Given the description of an element on the screen output the (x, y) to click on. 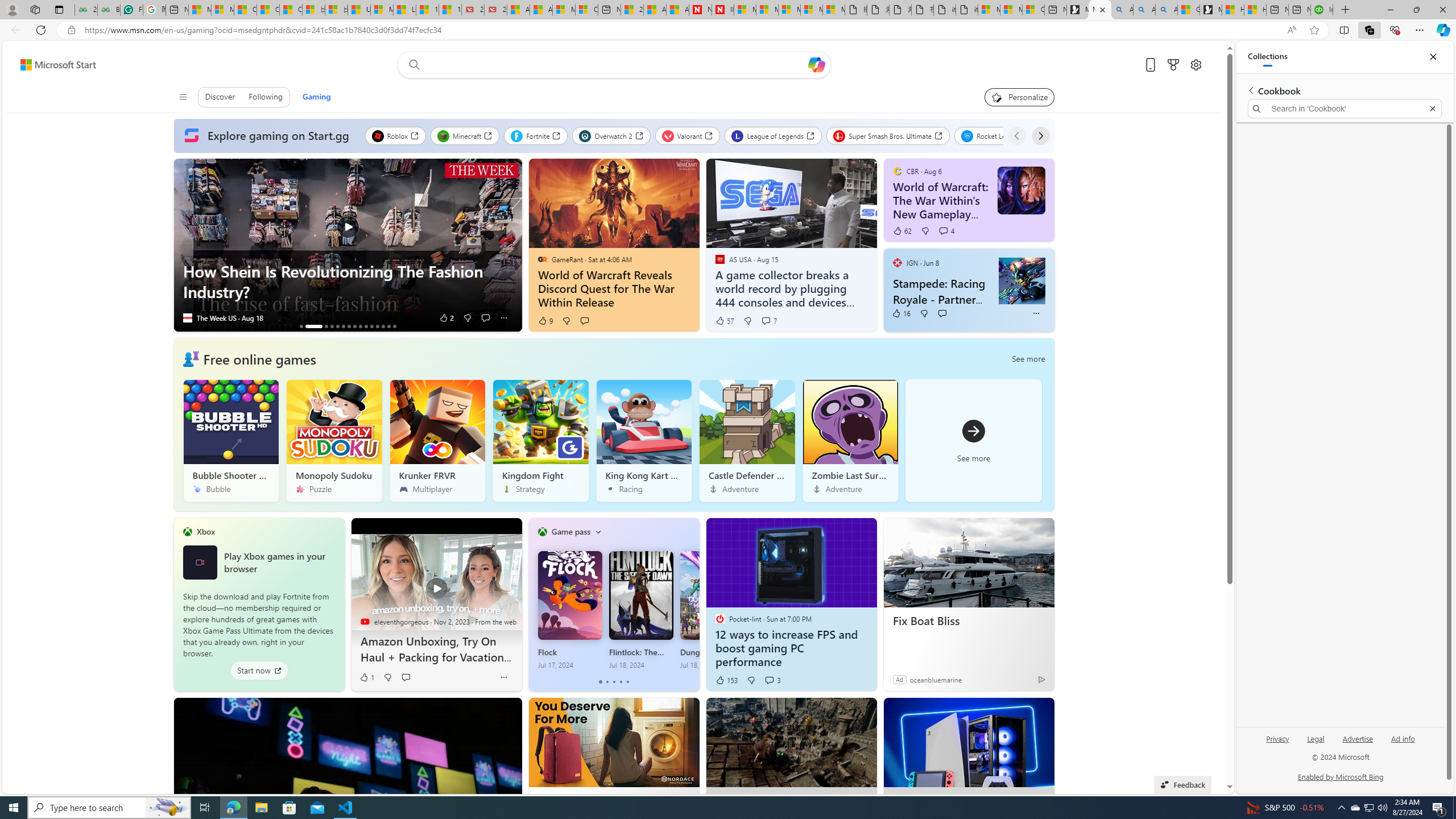
KingdomScape - Gameplay (382, 326)
Free AI Writing Assistance for Students | Grammarly (131, 9)
62 Like (901, 230)
Overwatch 2 (610, 135)
Best SSL Certificates Provider in India - GeeksforGeeks (109, 9)
Rocket League (996, 135)
Stampede: Racing Royale - Partner Spotlight | IGN Live (943, 291)
Krunker FRVR (437, 440)
AutomationID: tab_nativead-infopane-14 (388, 326)
